Given the description of an element on the screen output the (x, y) to click on. 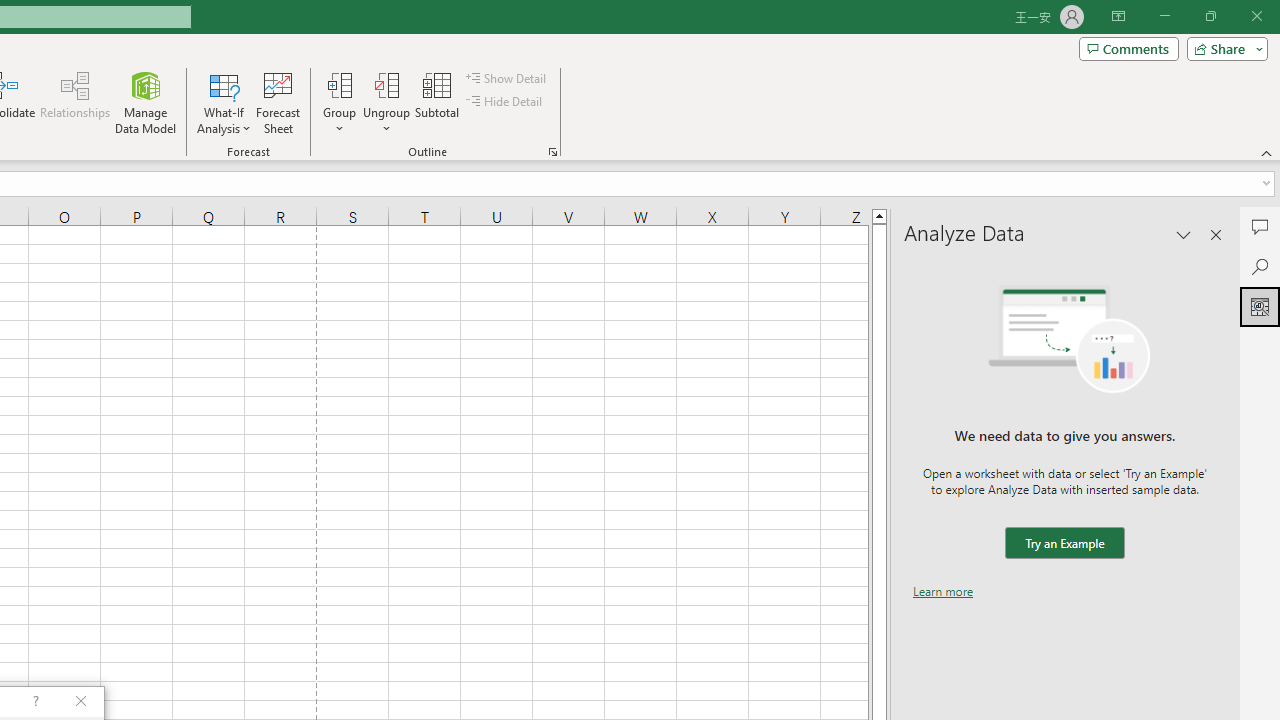
Relationships (75, 102)
